Given the description of an element on the screen output the (x, y) to click on. 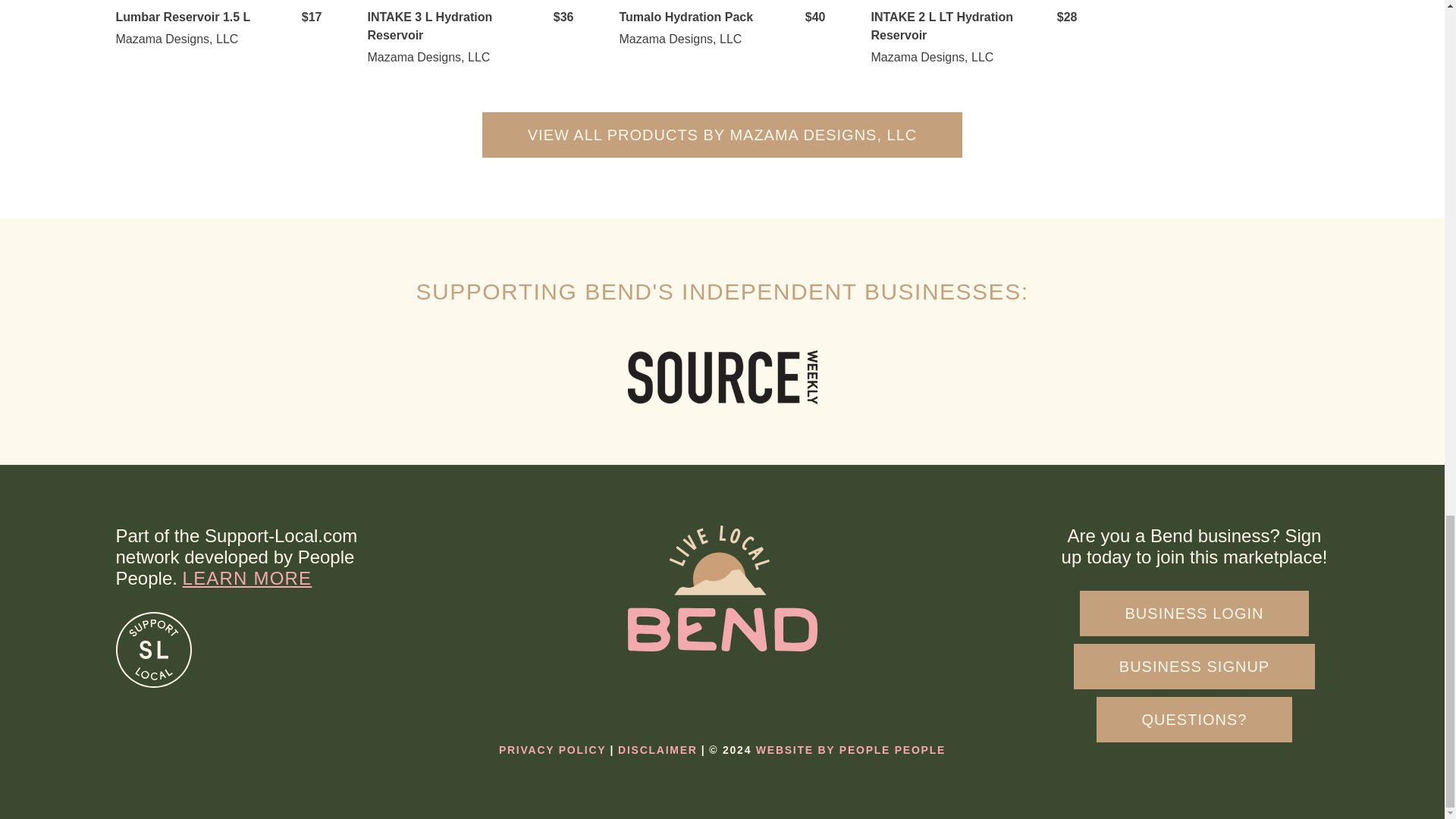
Mazama Designs, LLC (679, 38)
Lumbar Reservoir 1.5 L (182, 16)
INTAKE 3 L Hydration Reservoir (429, 25)
Tumalo Hydration Pack (685, 16)
Mazama Designs, LLC (176, 38)
Mazama Designs, LLC (427, 56)
